Given the description of an element on the screen output the (x, y) to click on. 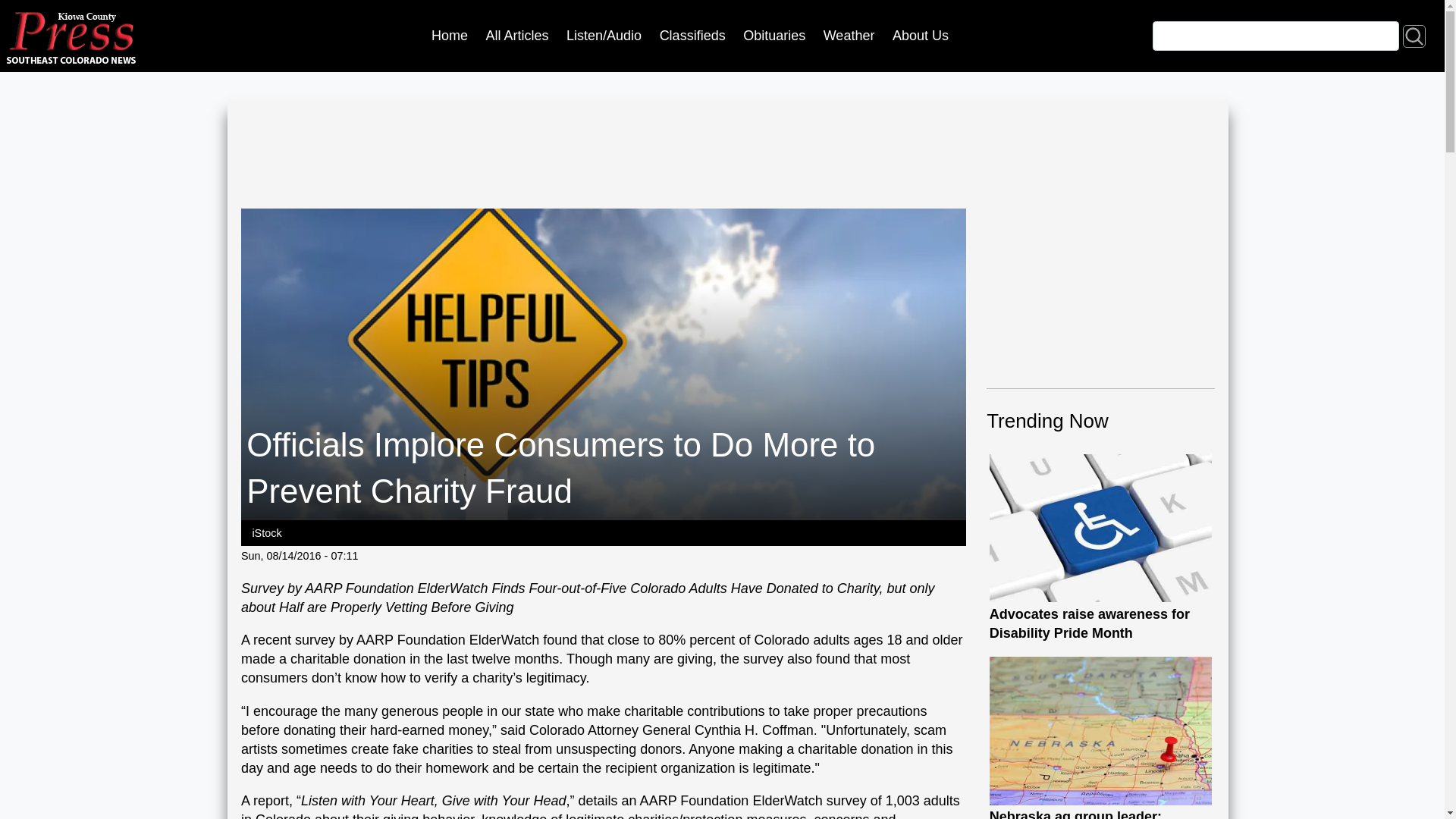
All Articles (1101, 547)
View Weather (517, 35)
Search (849, 35)
view obituaries (1414, 35)
About Us (774, 35)
Search (920, 35)
Weather (1414, 35)
view all articles (849, 35)
Sunday, August 14, 2016 - 07:11 (517, 35)
PROMO 660 x 440 Tips - Sign Helpful Tips - iStock (299, 555)
Obituaries (692, 35)
Home (774, 35)
view about us page (449, 35)
